Given the description of an element on the screen output the (x, y) to click on. 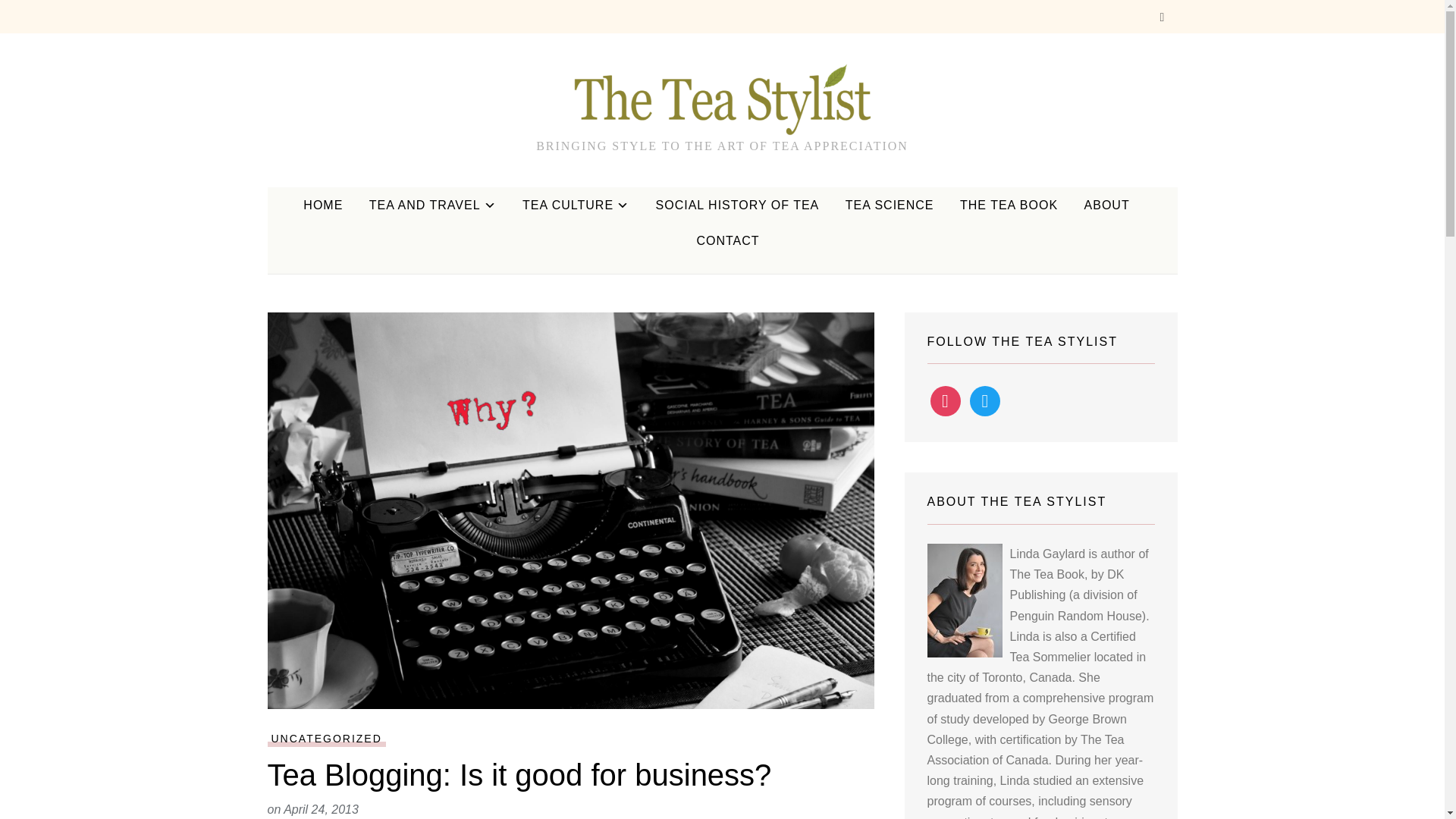
Instagram (944, 400)
TEA AND TRAVEL (432, 204)
Search (1161, 18)
Twitter (984, 400)
SOCIAL HISTORY OF TEA (737, 204)
TEA CULTURE (575, 204)
HOME (322, 204)
